Given the description of an element on the screen output the (x, y) to click on. 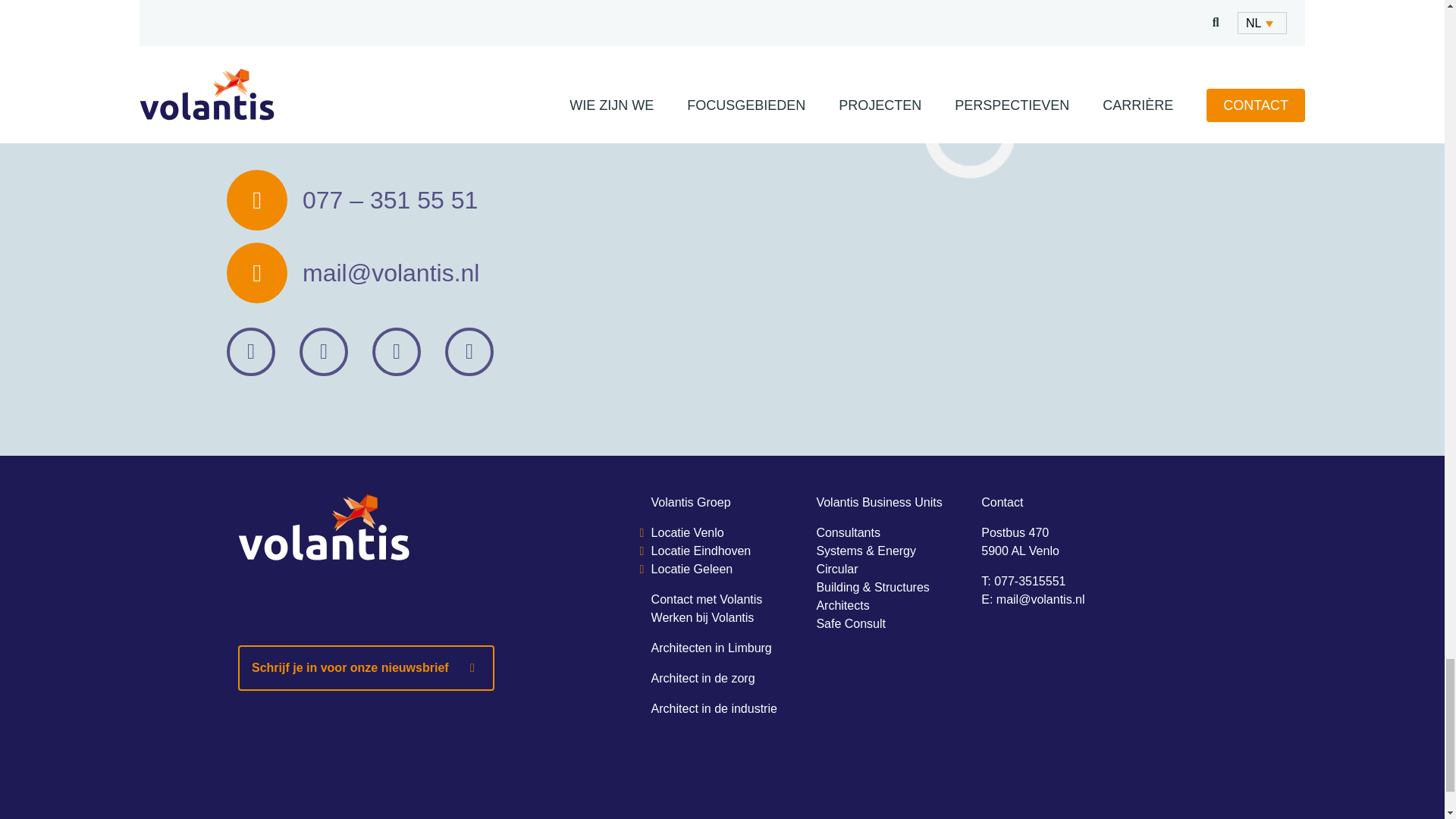
Volantis (433, 527)
